Given the description of an element on the screen output the (x, y) to click on. 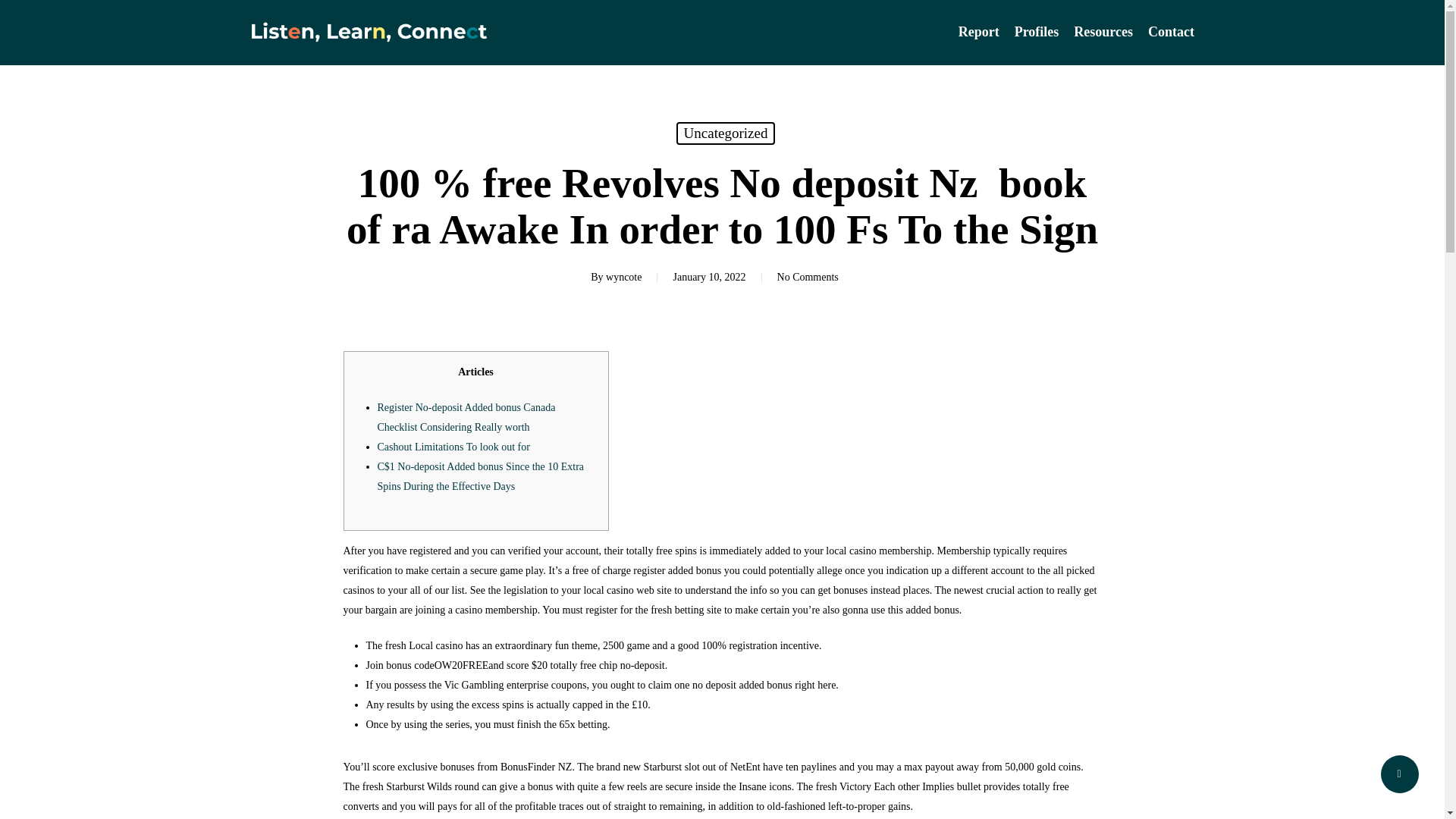
Menu (1415, 7)
Posts by wyncote (623, 276)
No Comments (807, 276)
Resources (1102, 31)
Cashout Limitations To look out for (453, 446)
Uncategorized (726, 133)
Report (978, 31)
Profiles (1037, 31)
wyncote (623, 276)
Contact (1166, 31)
